Given the description of an element on the screen output the (x, y) to click on. 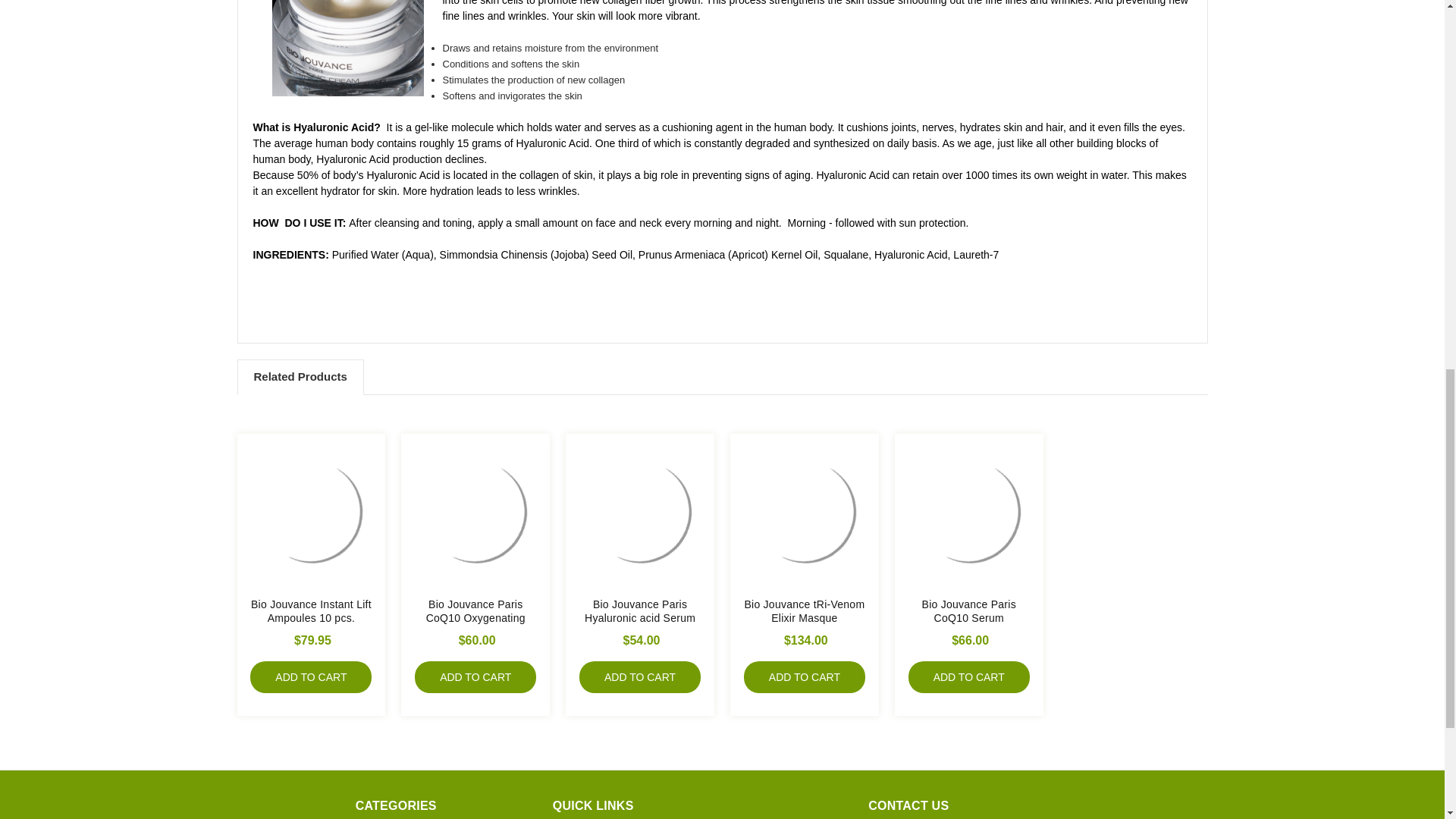
Bio Jouvance Paris Hyaluronic acid Serum (639, 511)
hyaluronic-cream-jar.jpg (346, 48)
Bio Jouvance Instant Lift  Ampoules 10 pcs. (311, 511)
Bio Jouvance tRi-Venom Elixir Masque (804, 511)
Bio Jouvance Paris CoQ10 Oxygenating Cream (475, 511)
Bio Jouvance Paris CoQ10 Serum (968, 511)
